Given the description of an element on the screen output the (x, y) to click on. 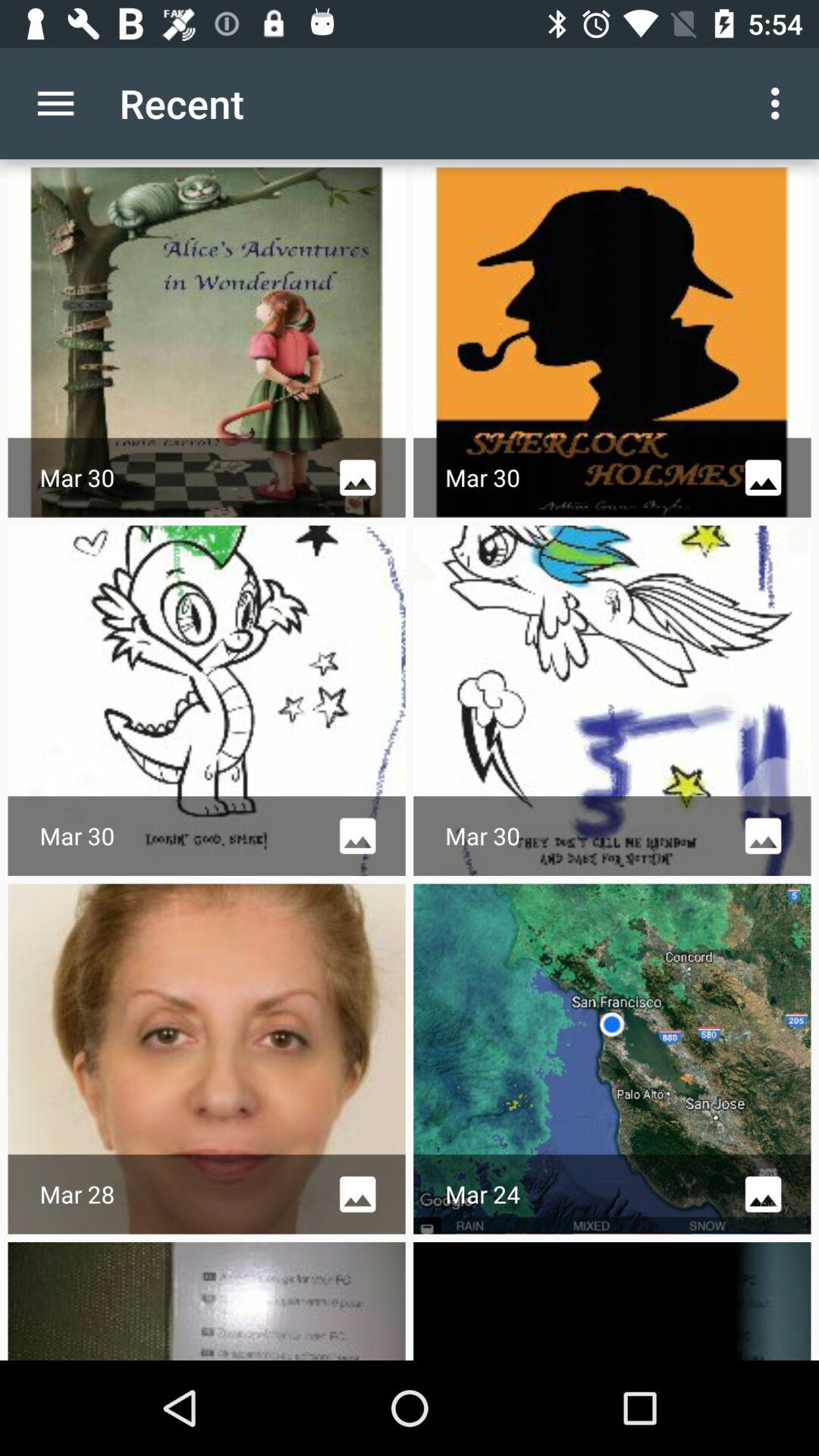
turn off the app next to recent icon (55, 103)
